Given the description of an element on the screen output the (x, y) to click on. 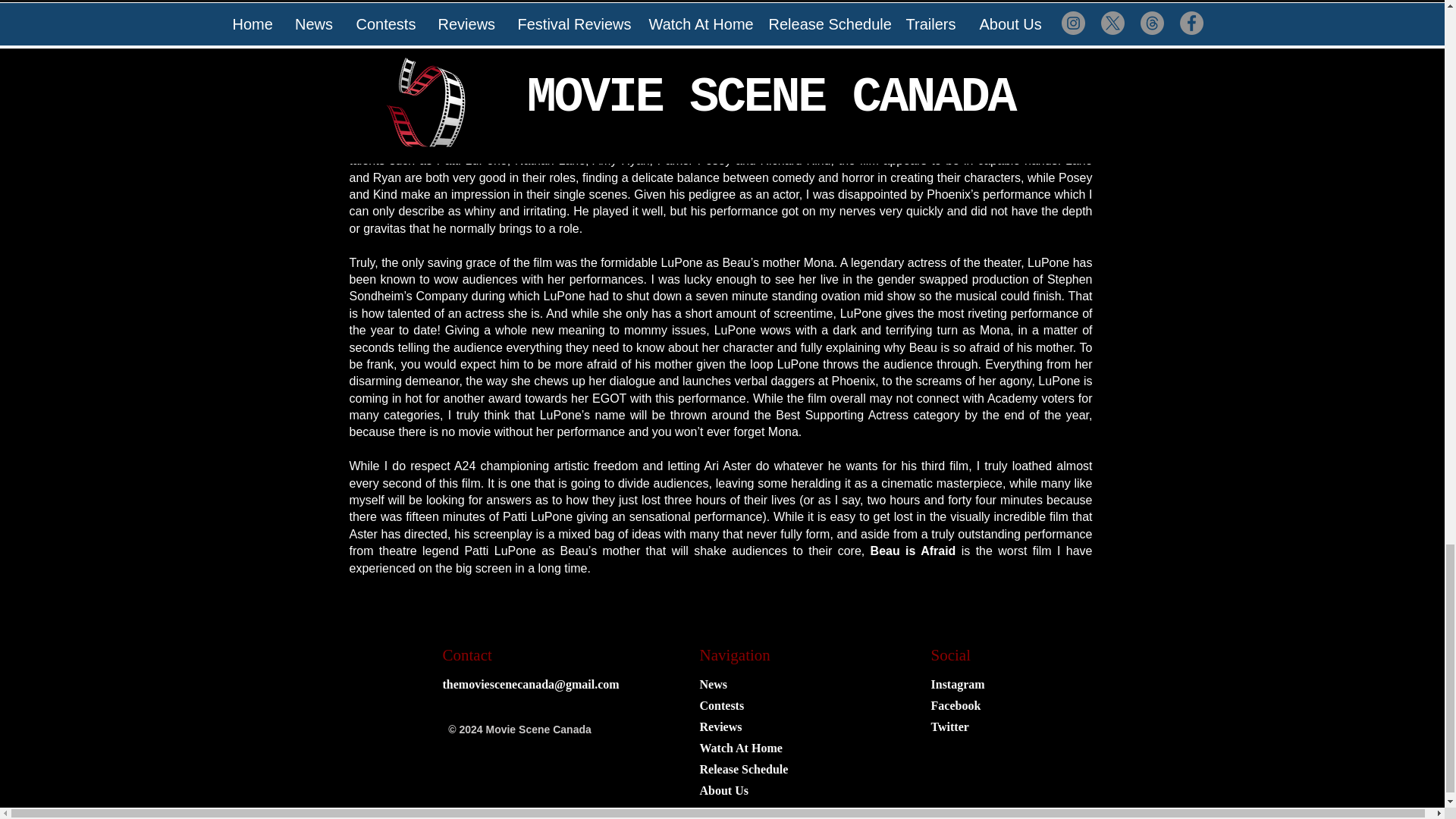
About Us (723, 790)
Watch At Home (739, 748)
Instagram (958, 684)
Facebook (956, 705)
Contests (721, 705)
Release Schedule (742, 769)
Reviews (719, 727)
News (712, 684)
Twitter (950, 727)
